Given the description of an element on the screen output the (x, y) to click on. 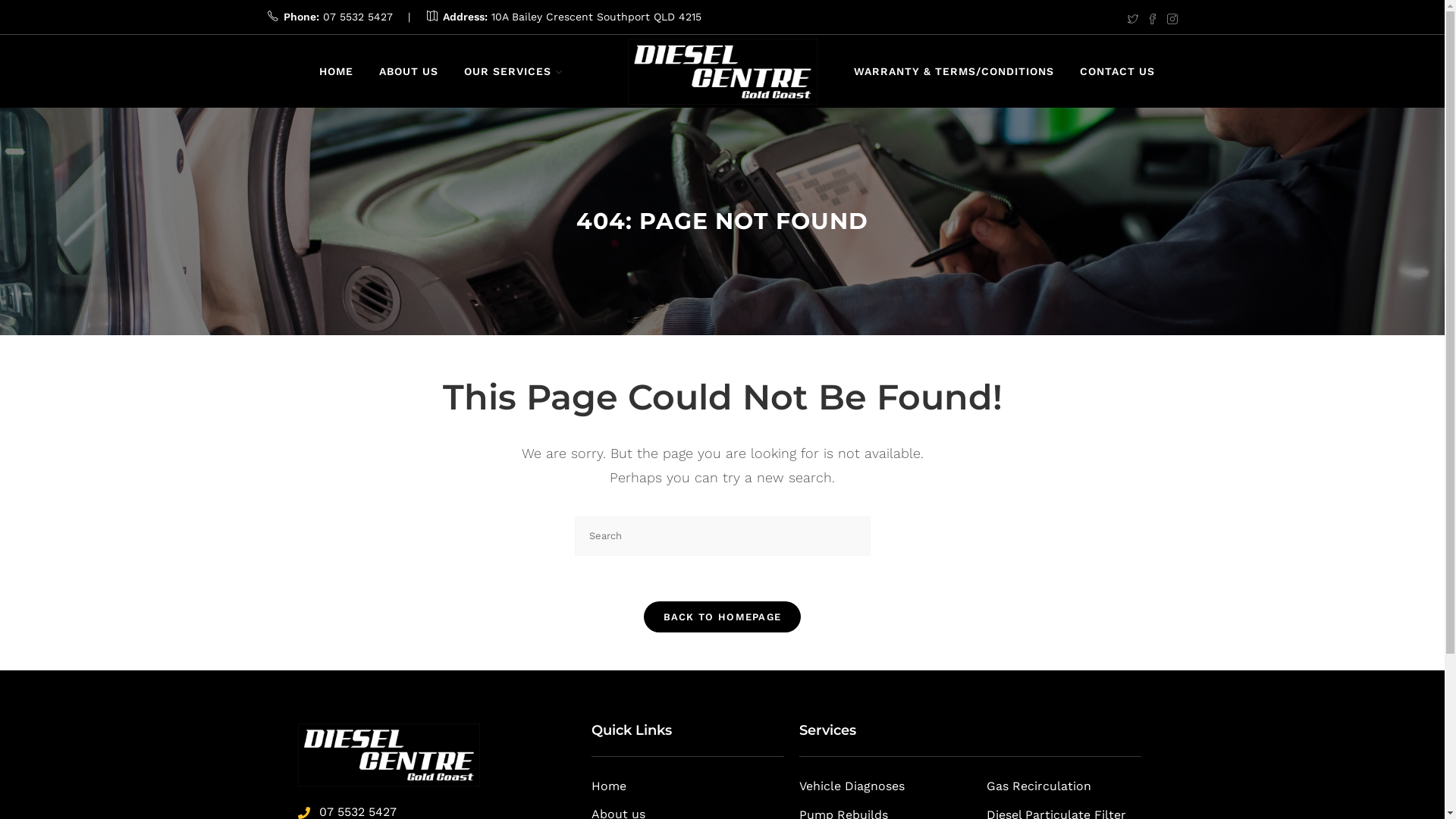
HOME Element type: text (336, 71)
WARRANTY & TERMS/CONDITIONS Element type: text (953, 71)
Gas Recirculation Element type: text (1063, 786)
Home Element type: text (687, 786)
ABOUT US Element type: text (407, 71)
CONTACT US Element type: text (1116, 71)
OUR SERVICES Element type: text (512, 71)
Vehicle Diagnoses Element type: text (893, 786)
BACK TO HOMEPAGE Element type: text (722, 616)
